Given the description of an element on the screen output the (x, y) to click on. 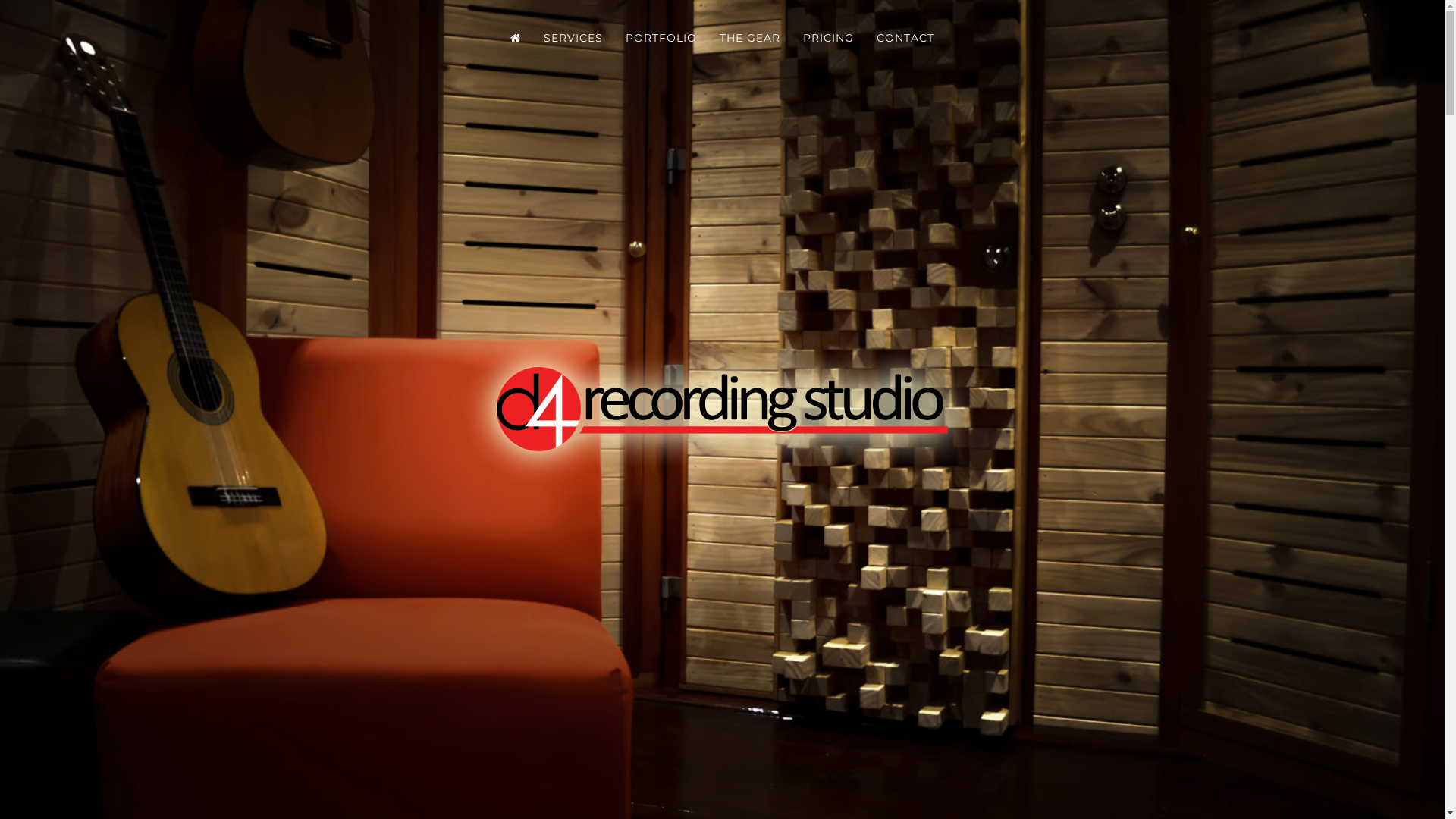
PORTFOLIO Element type: text (661, 37)
CONTACT Element type: text (905, 37)
THE GEAR Element type: text (749, 37)
PRICING Element type: text (828, 37)
SERVICES Element type: text (573, 37)
